Given the description of an element on the screen output the (x, y) to click on. 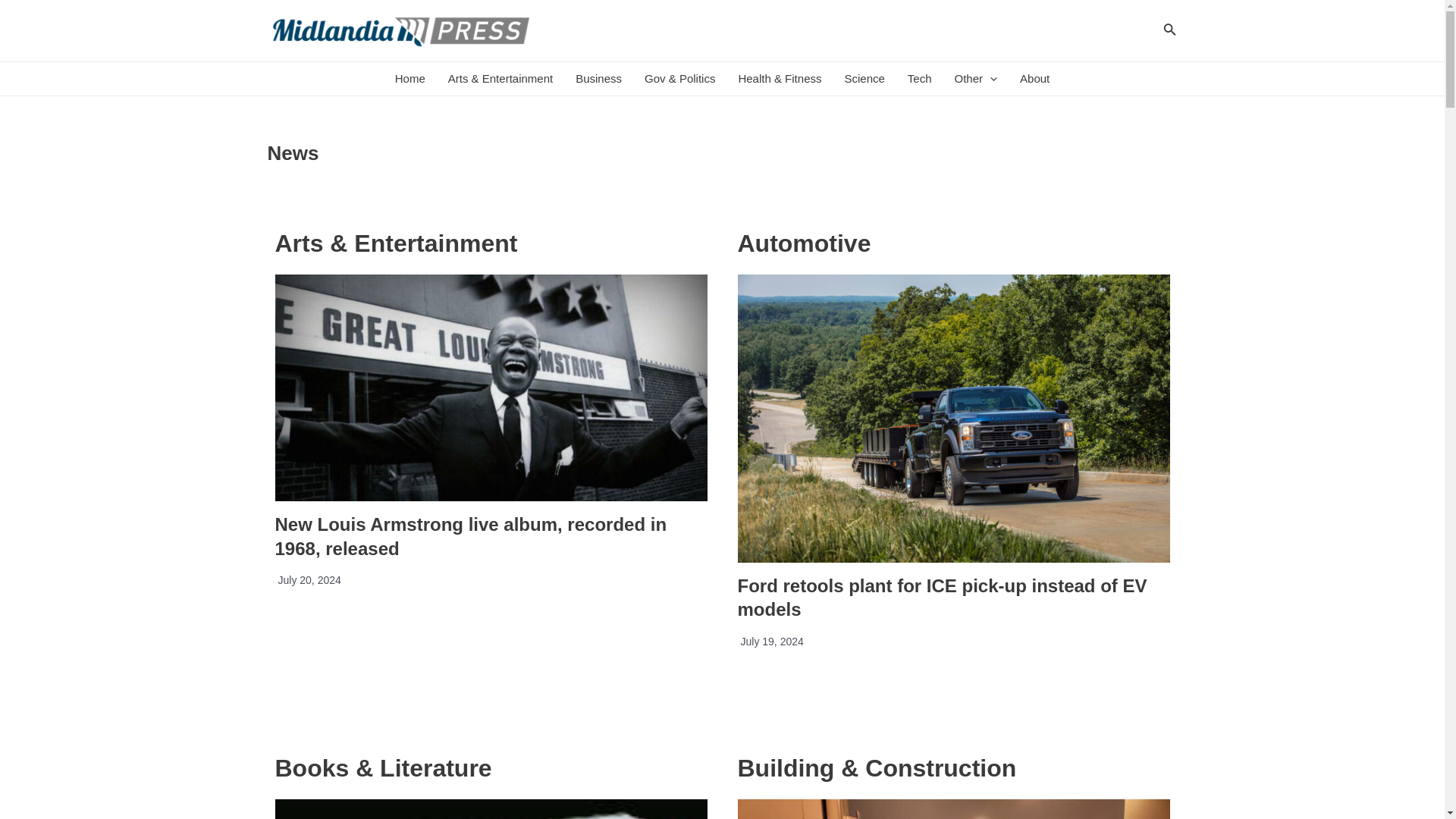
Home (410, 78)
Tech (919, 78)
Other (976, 78)
Business (598, 78)
Science (863, 78)
About (1035, 78)
